Given the description of an element on the screen output the (x, y) to click on. 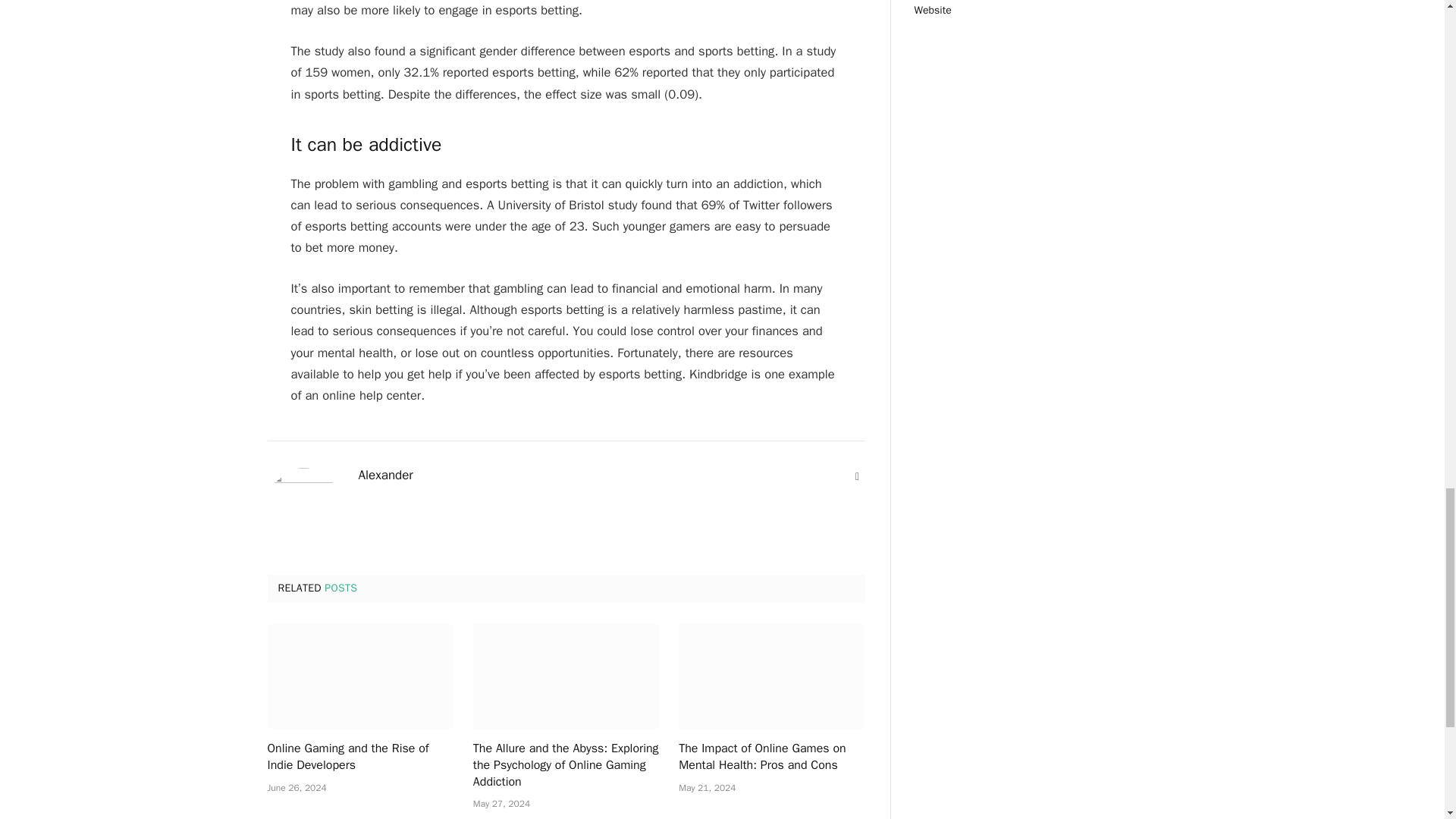
Posts by Alexander (385, 475)
Online Gaming and the Rise of Indie Developers (359, 757)
Website (856, 476)
The Impact of Online Games on Mental Health: Pros and Cons (771, 676)
Alexander (385, 475)
Website (856, 476)
The Impact of Online Games on Mental Health: Pros and Cons (771, 757)
Online Gaming and the Rise of Indie Developers (359, 676)
